Given the description of an element on the screen output the (x, y) to click on. 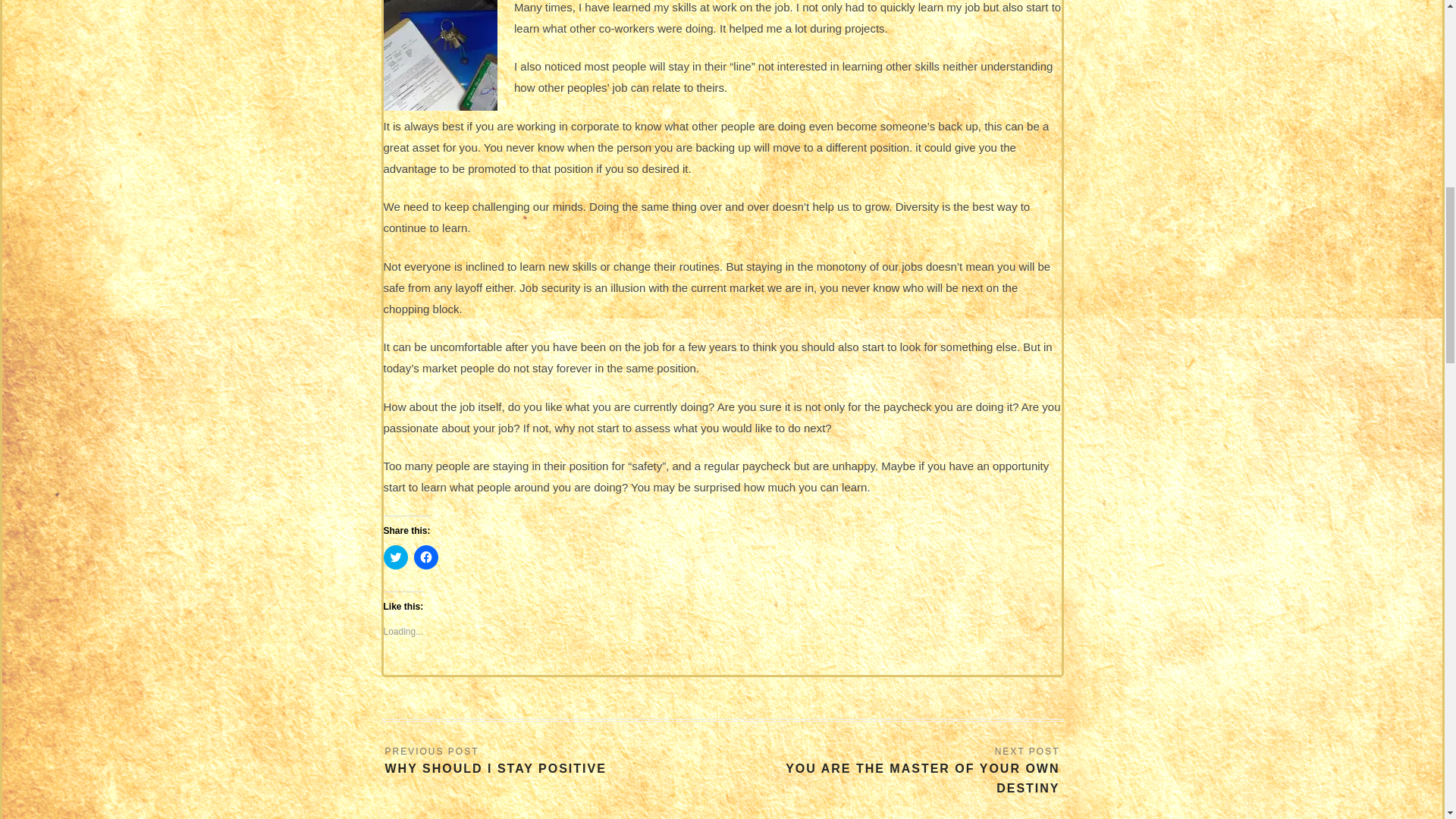
Click to share on Twitter (395, 557)
WHY SHOULD I STAY POSITIVE (496, 761)
Click to share on Facebook (425, 557)
YOU ARE THE MASTER OF YOUR OWN DESTINY (890, 771)
